Given the description of an element on the screen output the (x, y) to click on. 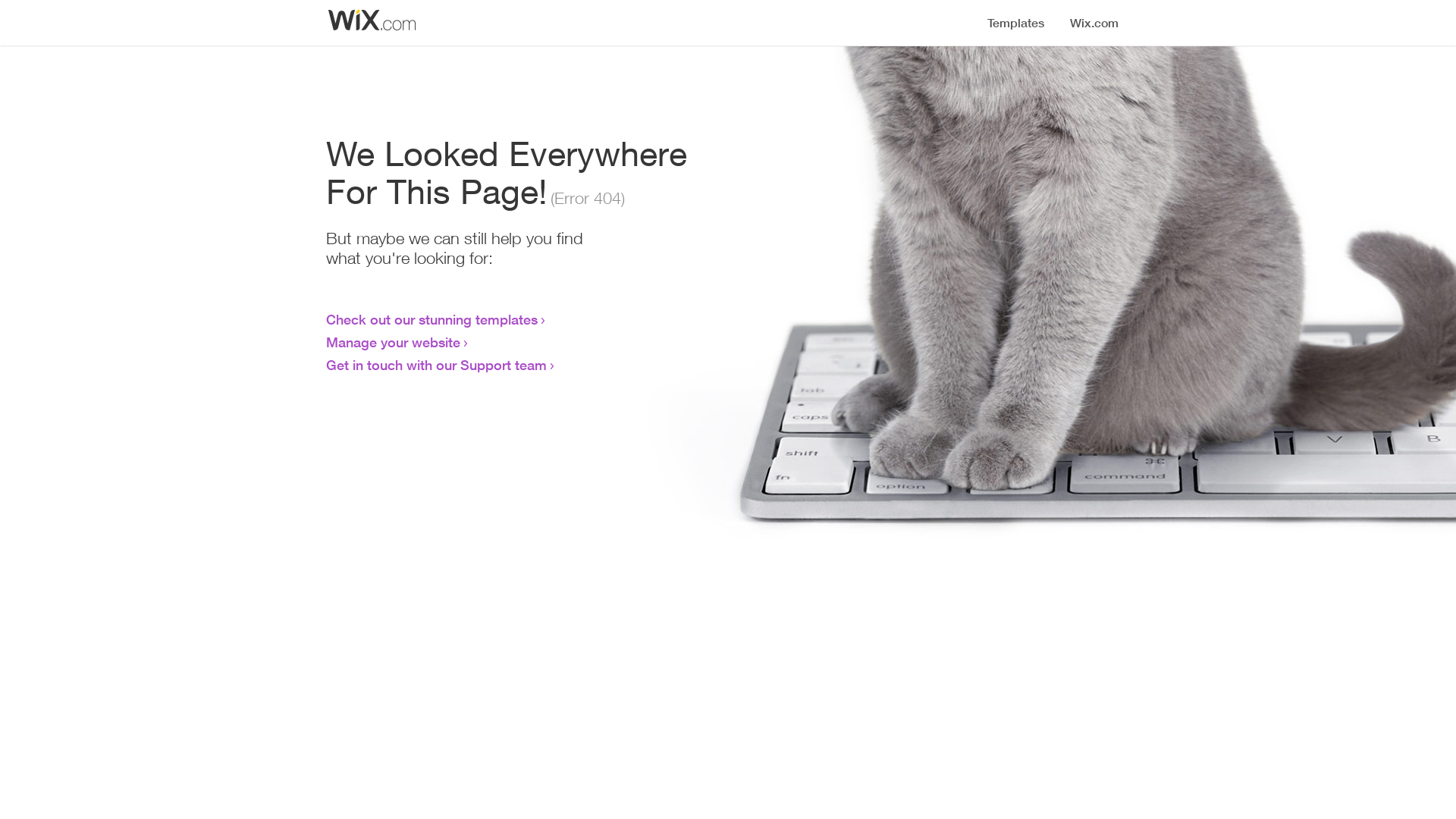
Check out our stunning templates Element type: text (431, 318)
Get in touch with our Support team Element type: text (436, 364)
Manage your website Element type: text (393, 341)
